Given the description of an element on the screen output the (x, y) to click on. 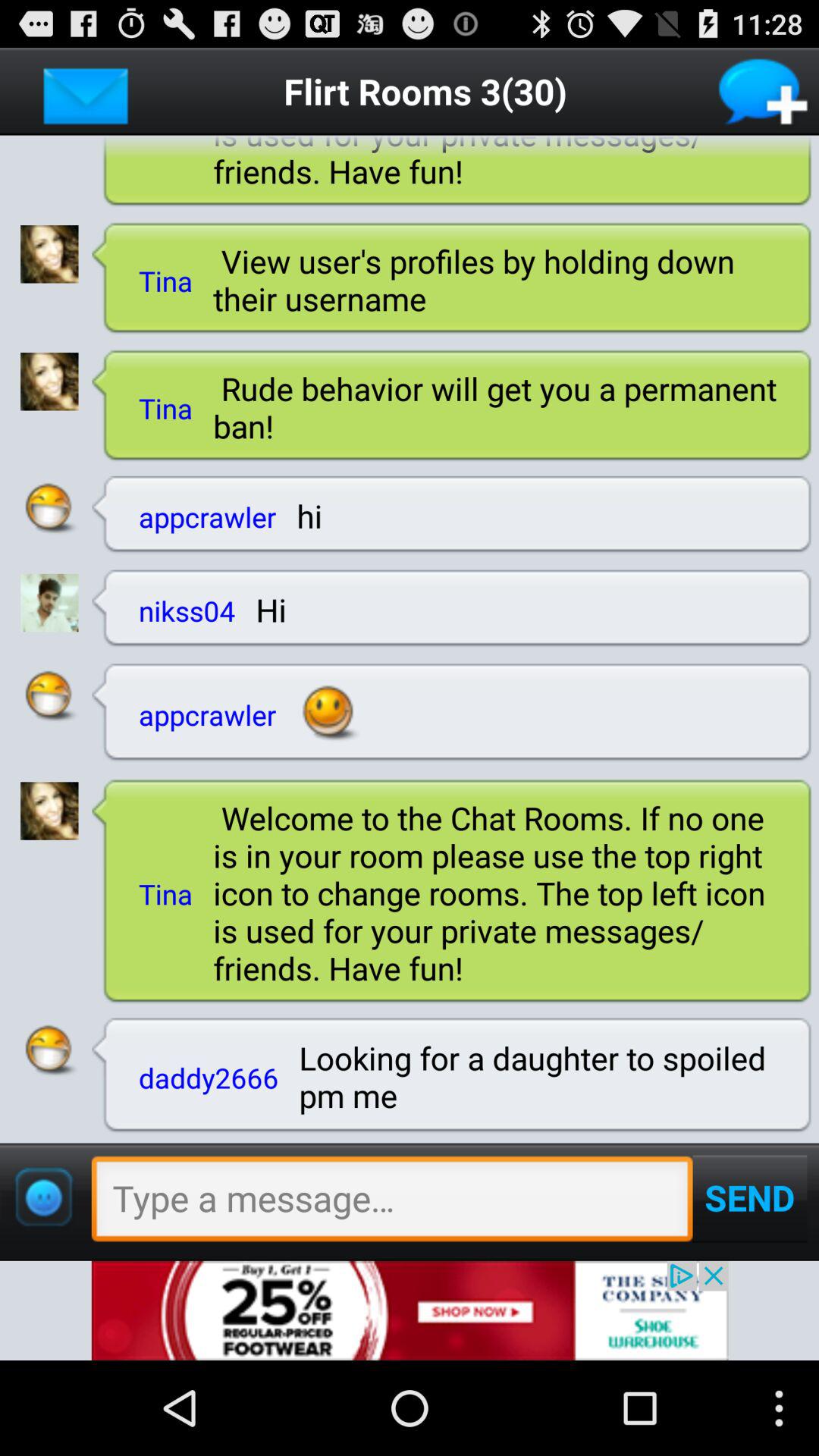
view blink picture (49, 381)
